Given the description of an element on the screen output the (x, y) to click on. 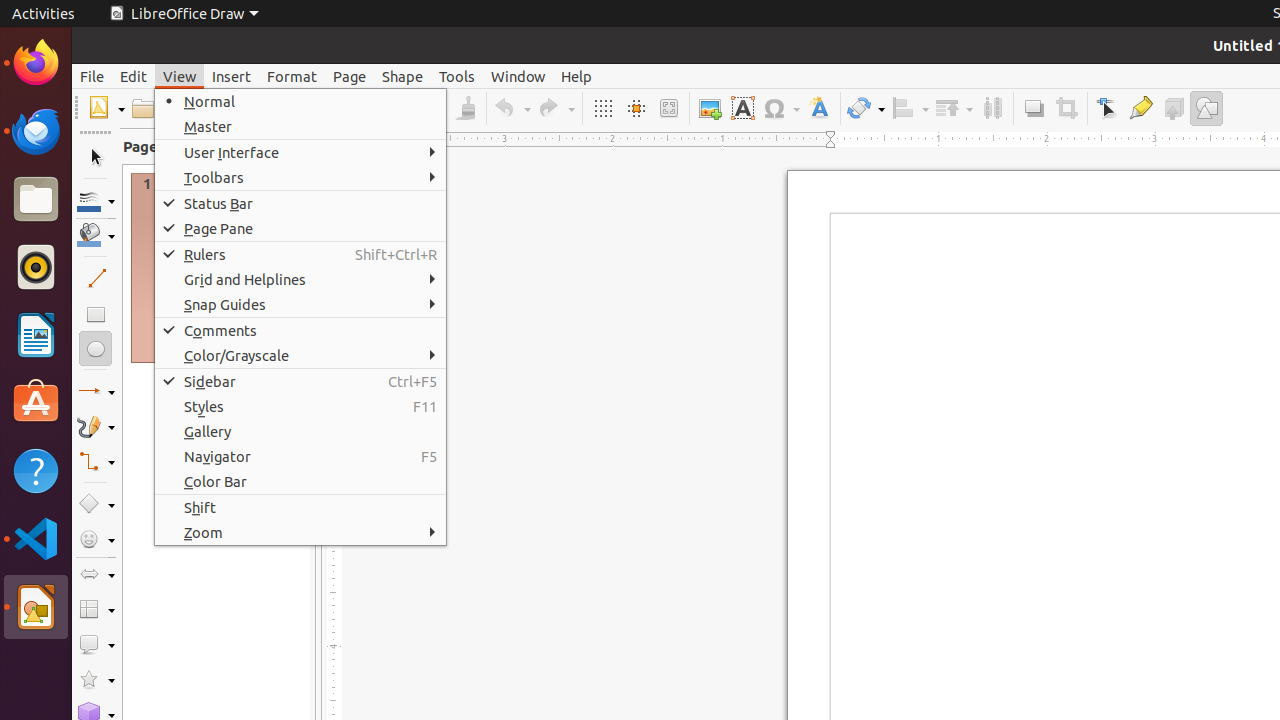
Zoom Element type: menu (300, 532)
File Element type: menu (92, 76)
Crop Element type: push-button (1066, 108)
Edit Element type: menu (133, 76)
Zoom & Pan Element type: push-button (668, 108)
